Given the description of an element on the screen output the (x, y) to click on. 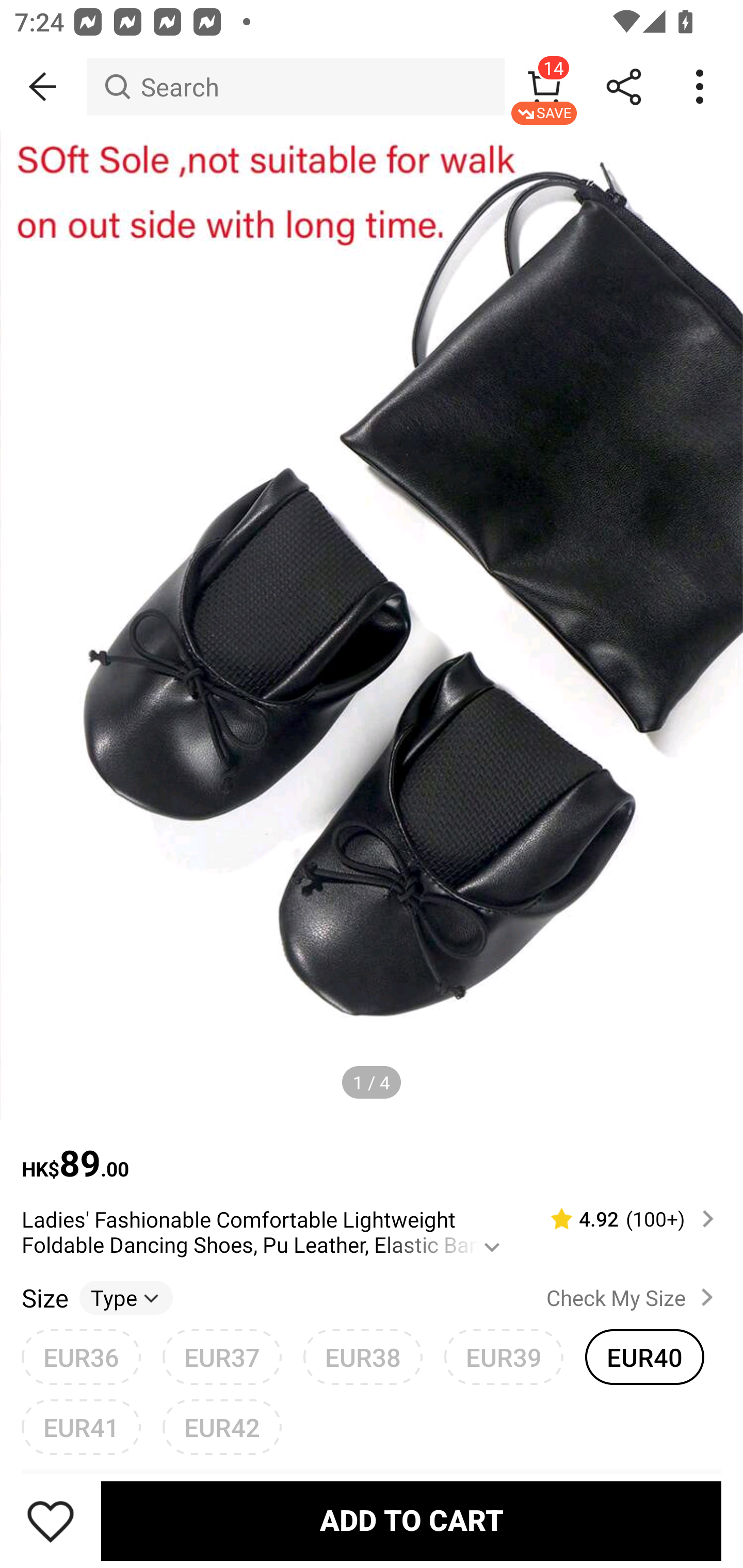
BACK (43, 86)
14 SAVE (543, 87)
Search (295, 87)
1 / 4 (371, 1082)
HK$89.00 (371, 1152)
4.92 (100‎+) (623, 1219)
Size (44, 1297)
Type (126, 1297)
Check My Size (633, 1297)
EUR36 EUR38 (81, 1356)
EUR37 EUR39 (221, 1356)
EUR38 EUR40 (362, 1356)
EUR39 EUR41 (503, 1356)
EUR40 EUR42selected option (644, 1356)
EUR41 (81, 1426)
EUR42 (221, 1426)
ADD TO CART (411, 1520)
Save (50, 1520)
